Given the description of an element on the screen output the (x, y) to click on. 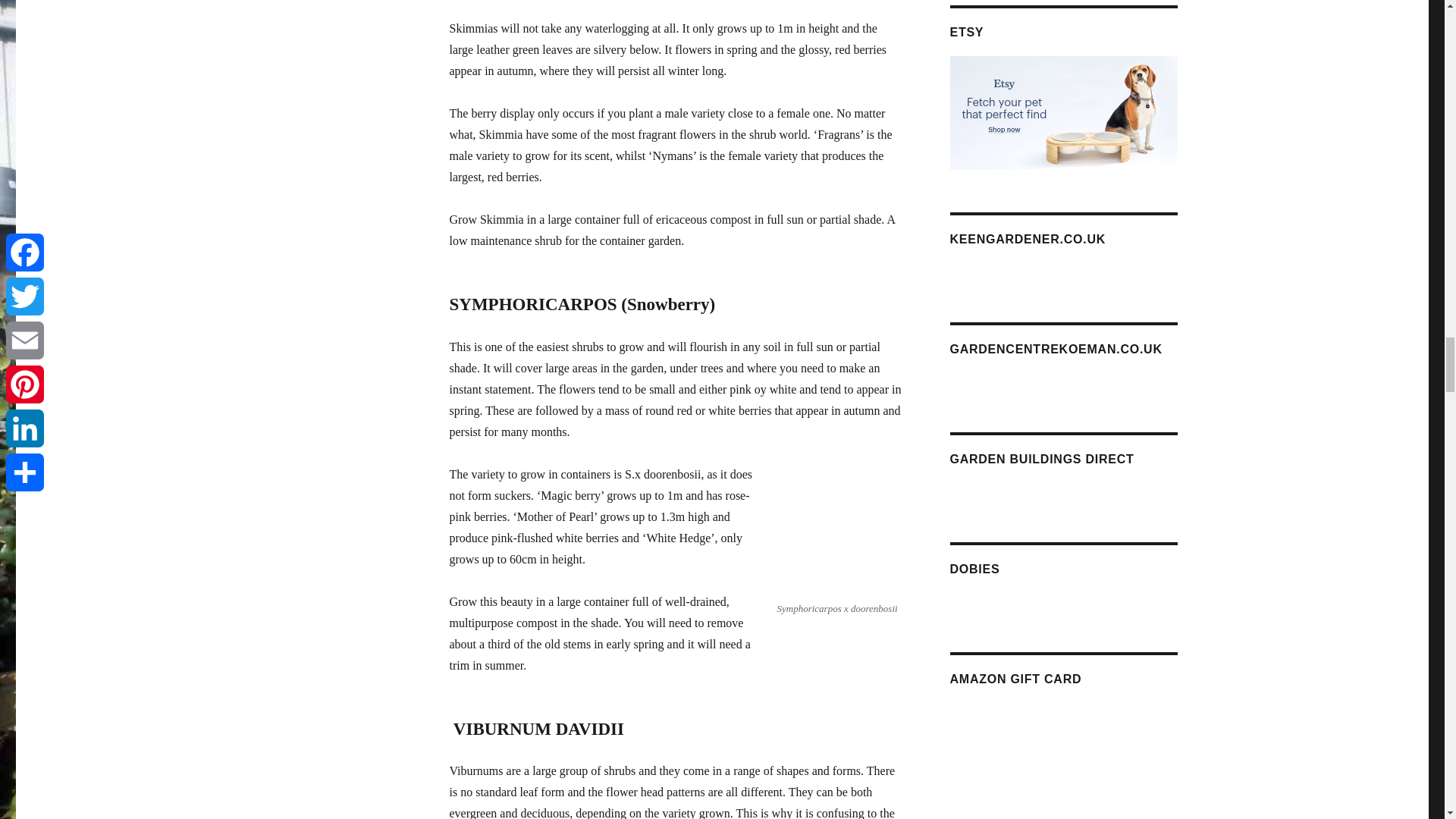
GBD-120-90 (1062, 489)
250x250 (1062, 269)
Dobies (1062, 599)
GardenCentre120x90 (1062, 379)
